Given the description of an element on the screen output the (x, y) to click on. 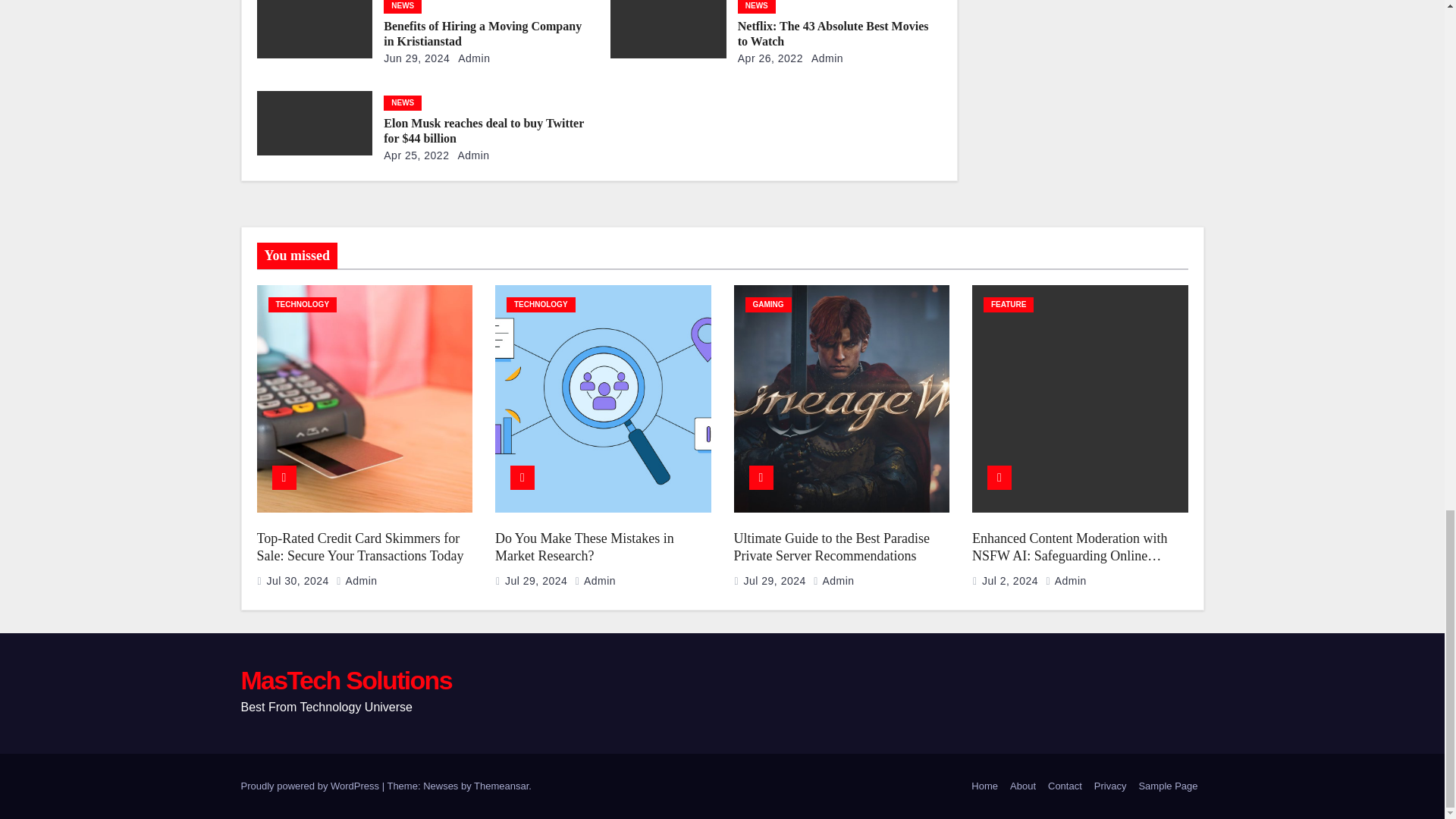
Benefits of Hiring a Moving Company in Kristianstad (482, 33)
Permalink to: Do You Make These Mistakes in Market Research? (584, 546)
Home (984, 786)
Apr 26, 2022 (770, 58)
Admin (471, 58)
NEWS (757, 6)
Jun 29, 2024 (416, 58)
Permalink to: Netflix: The 43 Absolute Best Movies to Watch (833, 33)
Netflix: The 43 Absolute Best Movies to Watch (833, 33)
Apr 25, 2022 (416, 155)
Admin (824, 58)
NEWS (403, 102)
